Given the description of an element on the screen output the (x, y) to click on. 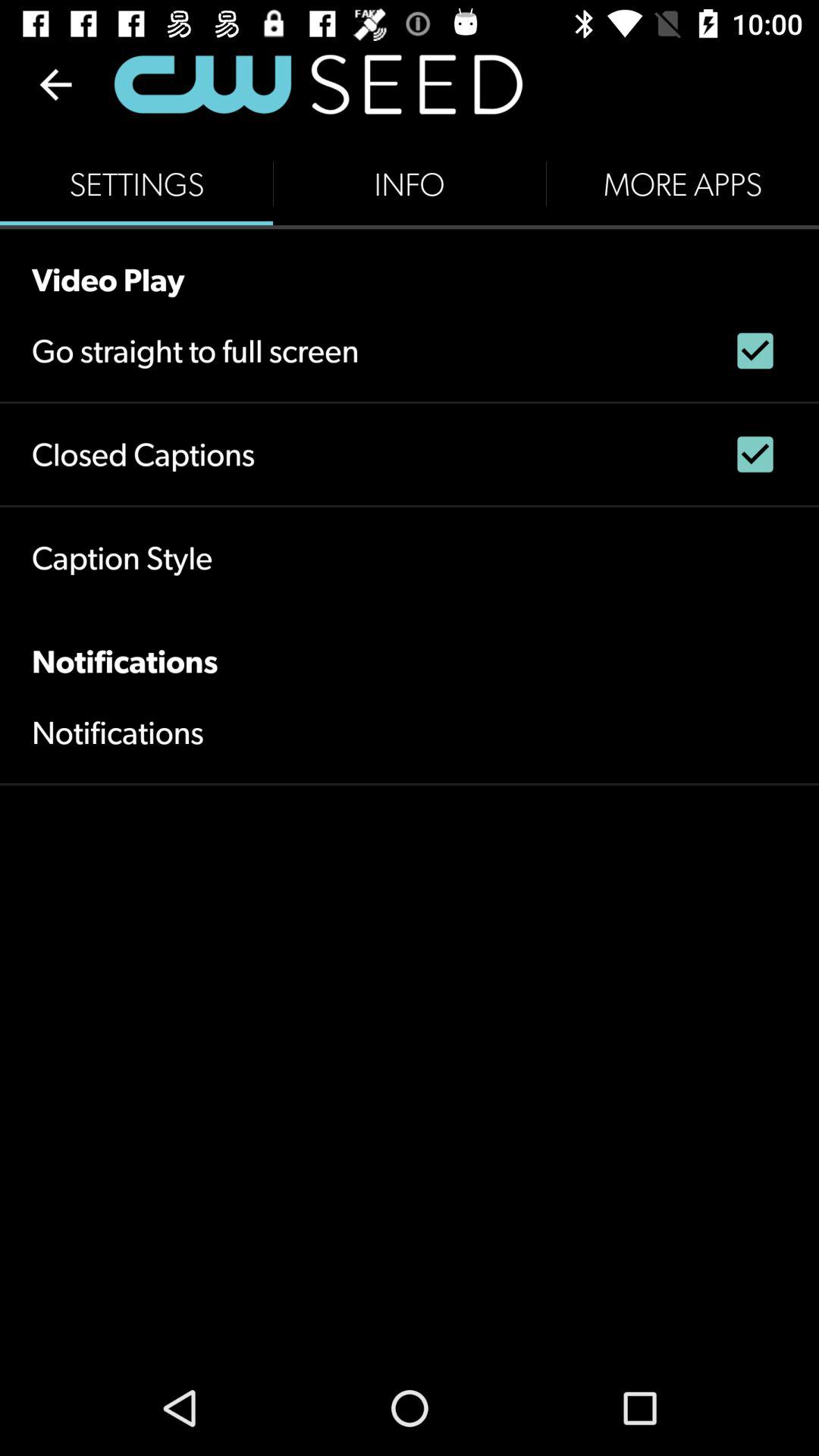
click the caption style icon (121, 557)
